Given the description of an element on the screen output the (x, y) to click on. 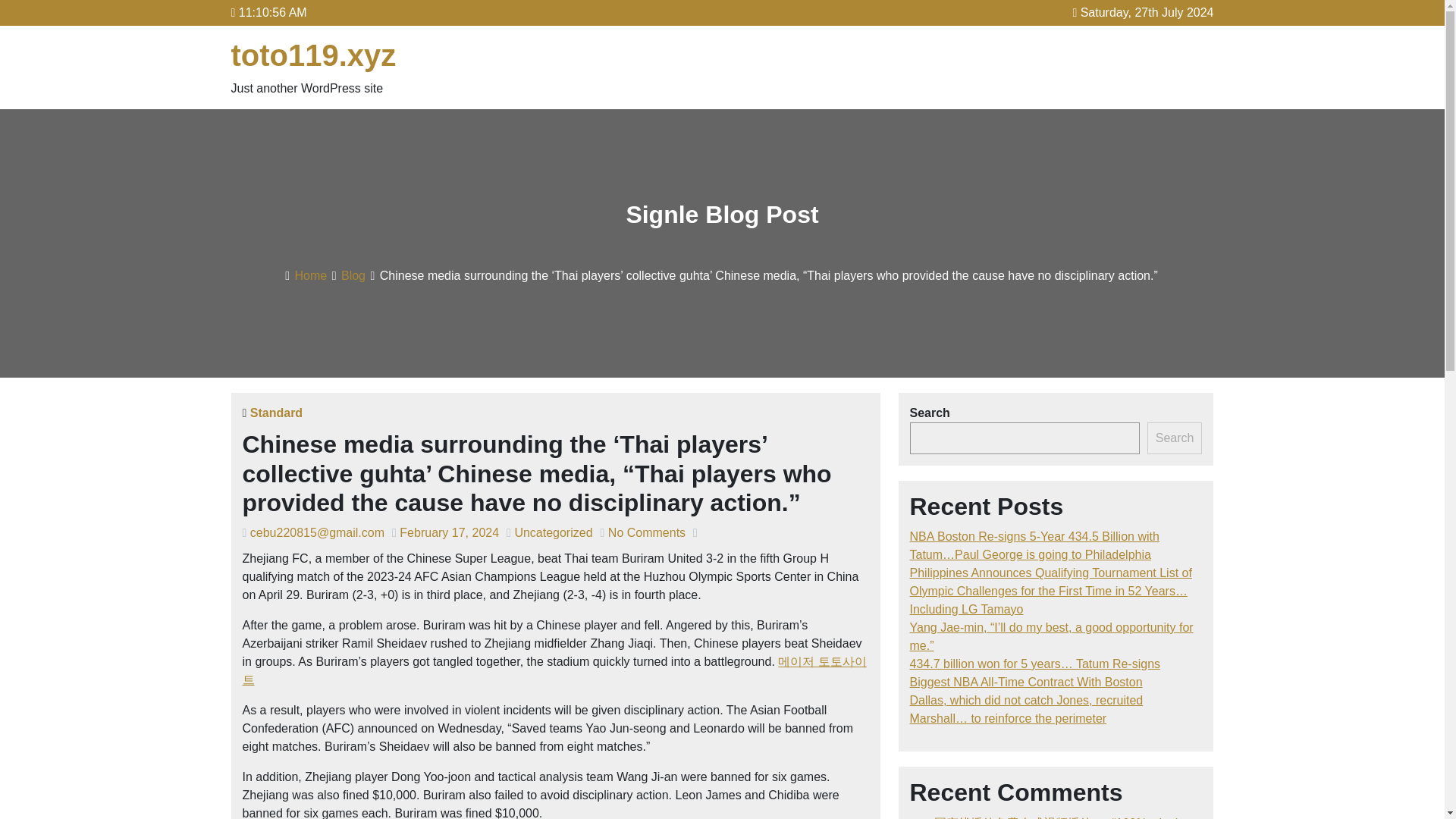
Blog (352, 275)
toto119.xyz (313, 55)
Home (311, 275)
Uncategorized (552, 532)
Search (1174, 438)
No Comments (646, 532)
February 17, 2024 (448, 532)
